Given the description of an element on the screen output the (x, y) to click on. 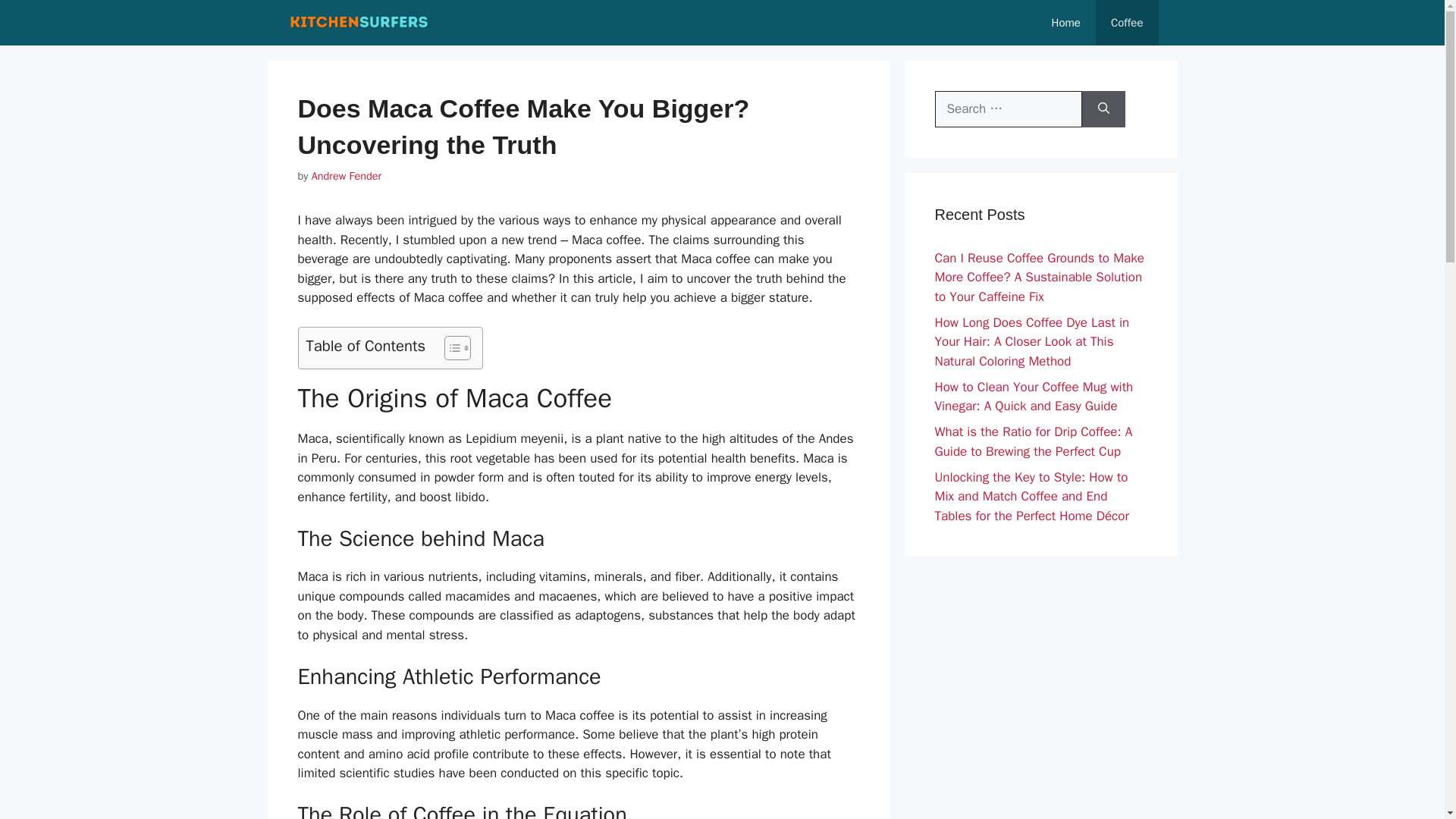
Coffee (1127, 22)
View all posts by Andrew Fender (346, 175)
Andrew Fender (346, 175)
Home (1066, 22)
KitchenSurfers (359, 22)
